Given the description of an element on the screen output the (x, y) to click on. 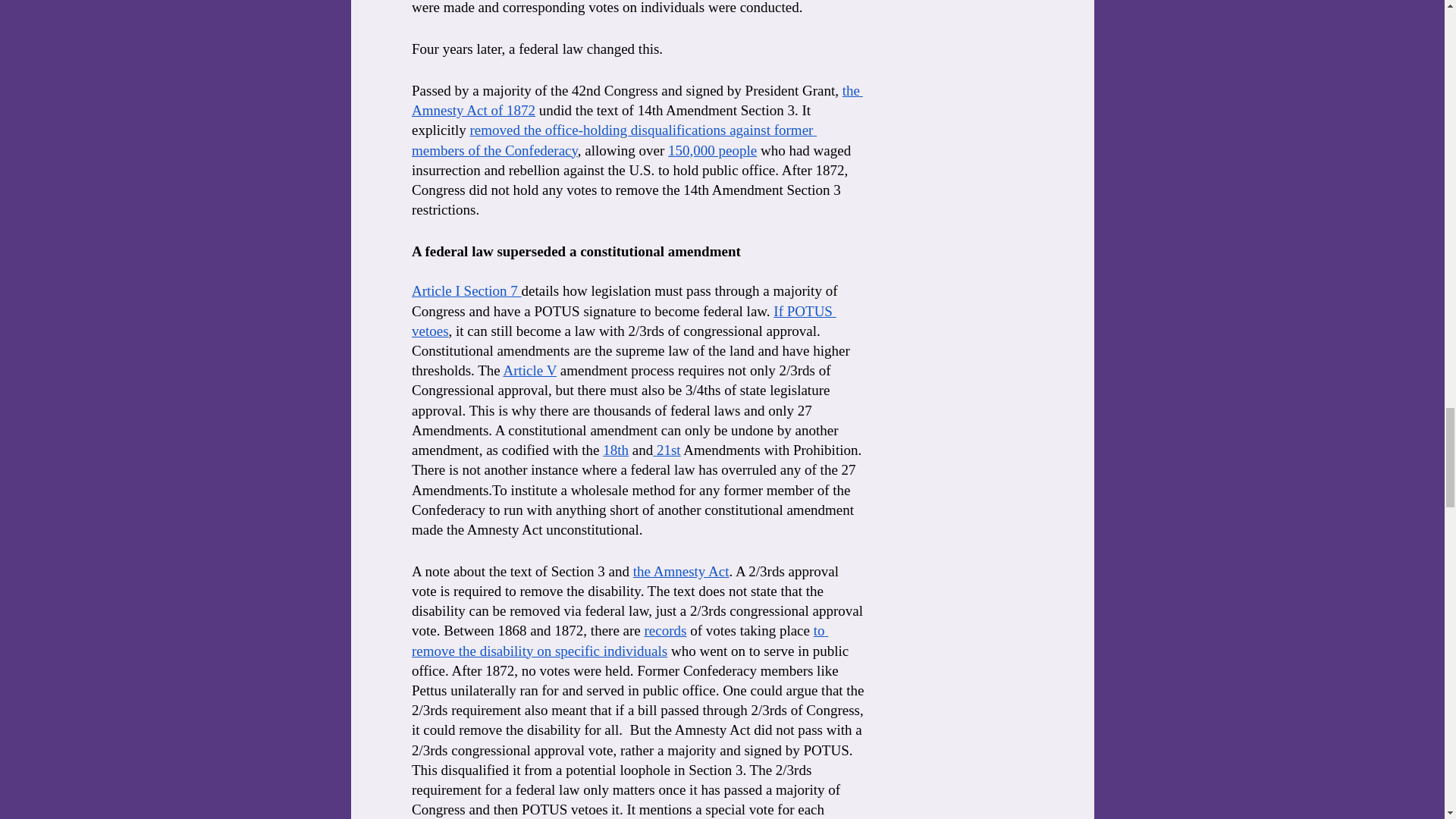
the Amnesty Act of 1872 (635, 99)
150,000 people (712, 150)
